Given the description of an element on the screen output the (x, y) to click on. 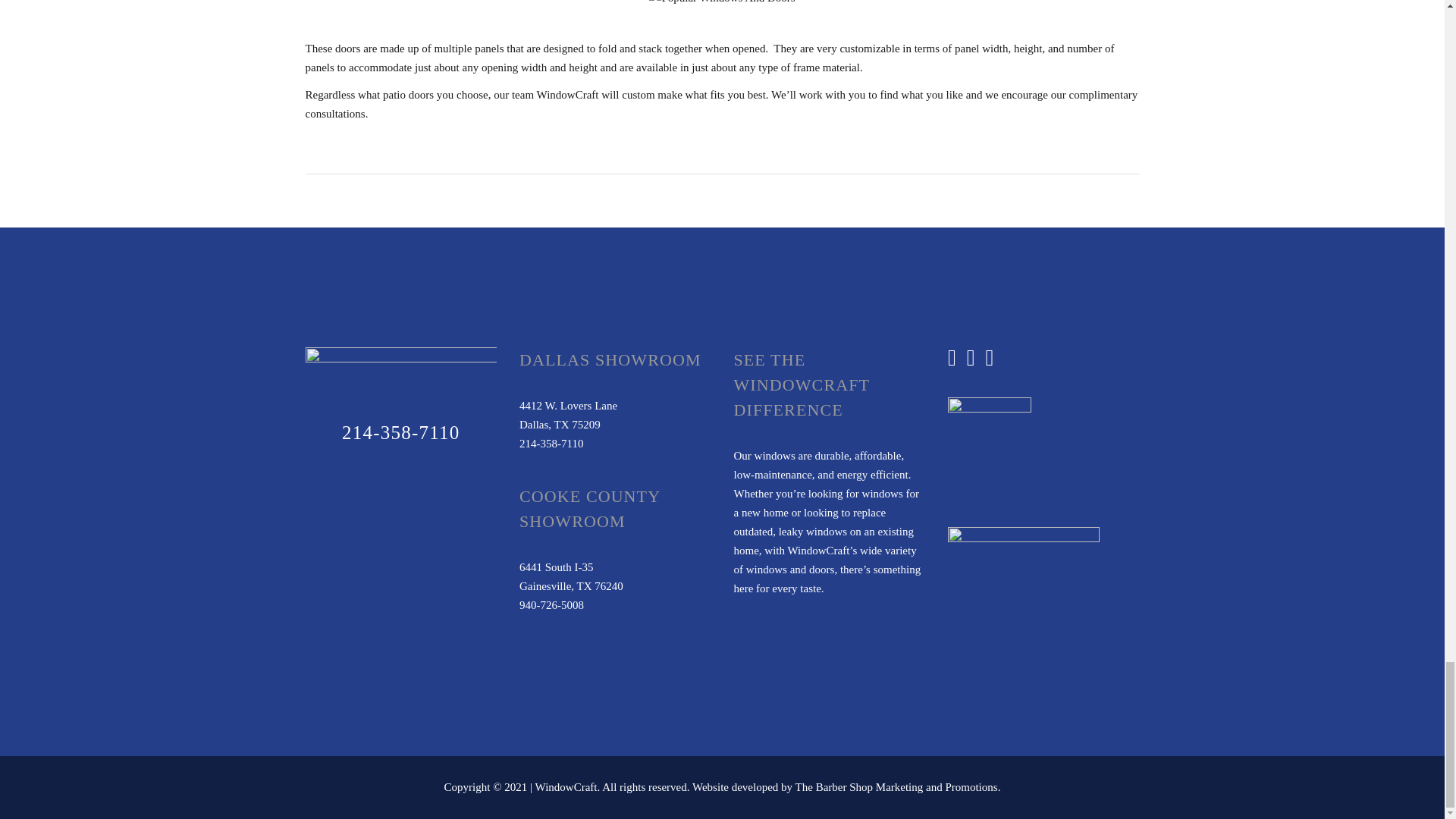
Modern Furnished Sitting Room With Bifold Patio Doors (721, 3)
214-358-7110 (401, 432)
WindowCraft (565, 787)
The Barber Shop Marketing and Promotions (895, 787)
